Given the description of an element on the screen output the (x, y) to click on. 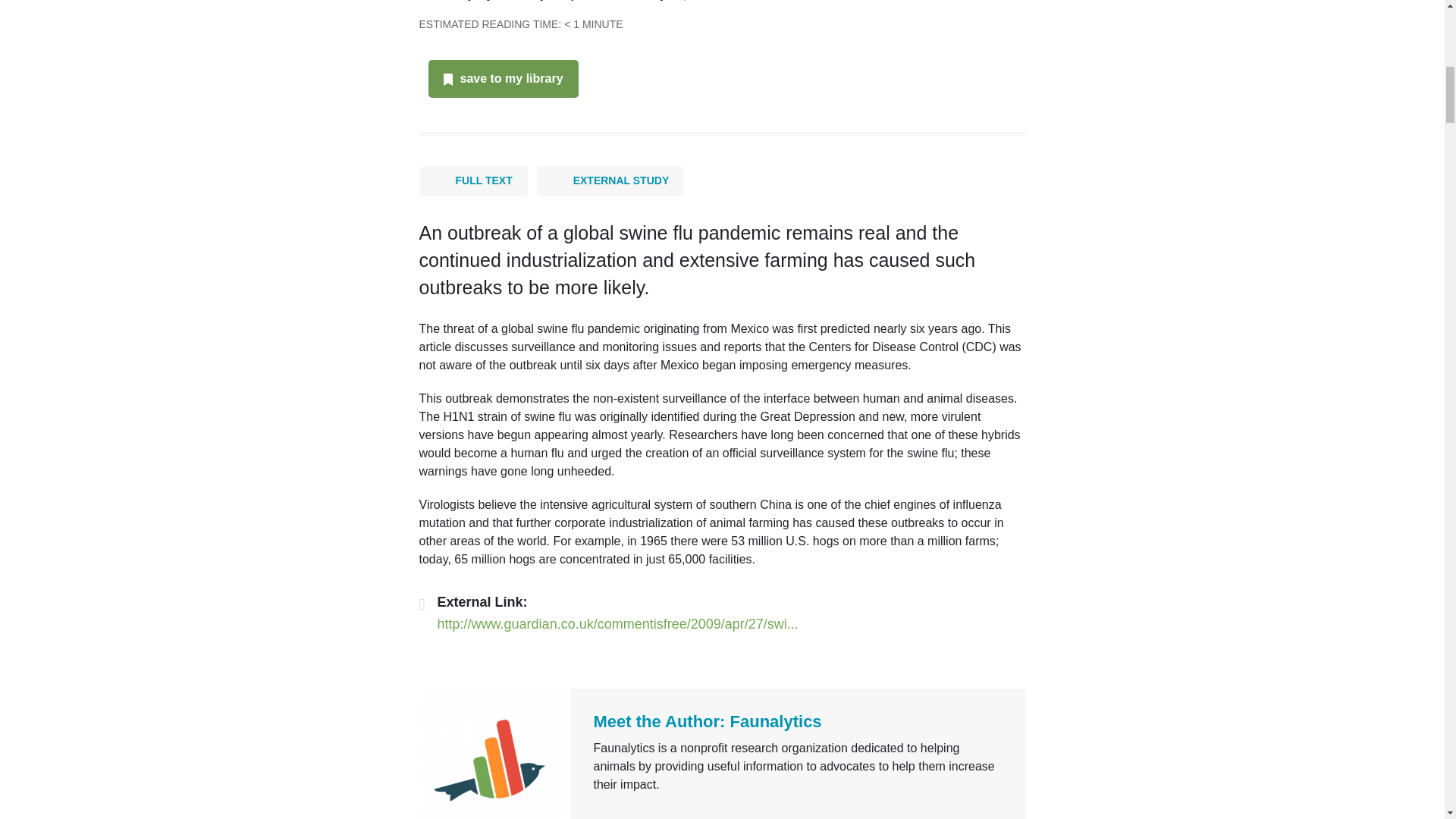
Save to My Library (511, 78)
Posts by Faunalytics (533, 0)
Posts by Faunalytics (776, 721)
